Given the description of an element on the screen output the (x, y) to click on. 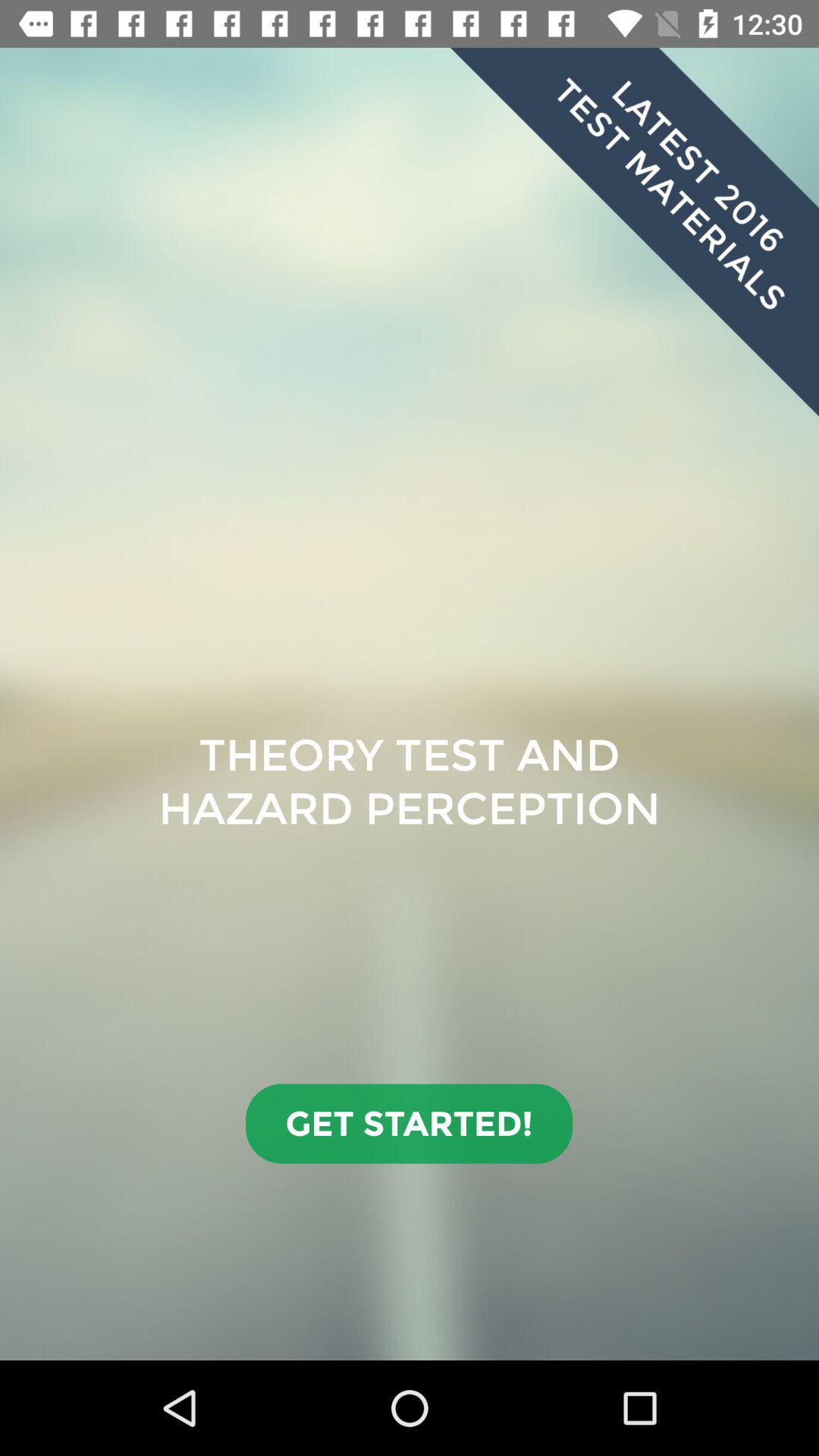
flip until get started! item (408, 1123)
